Given the description of an element on the screen output the (x, y) to click on. 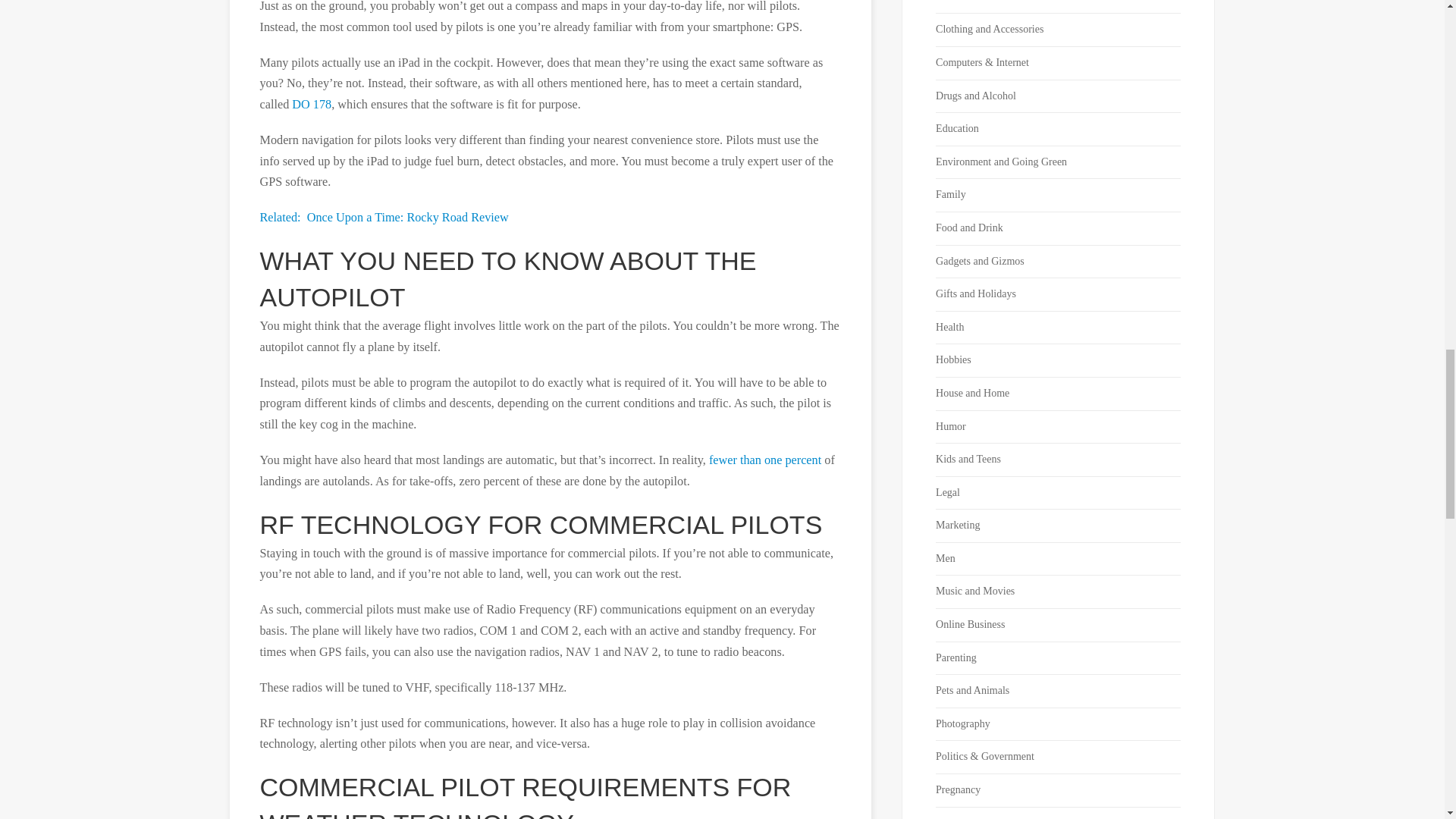
Related:  Once Upon a Time: Rocky Road Review (383, 217)
fewer than one percent (765, 459)
DO 178 (311, 104)
